Given the description of an element on the screen output the (x, y) to click on. 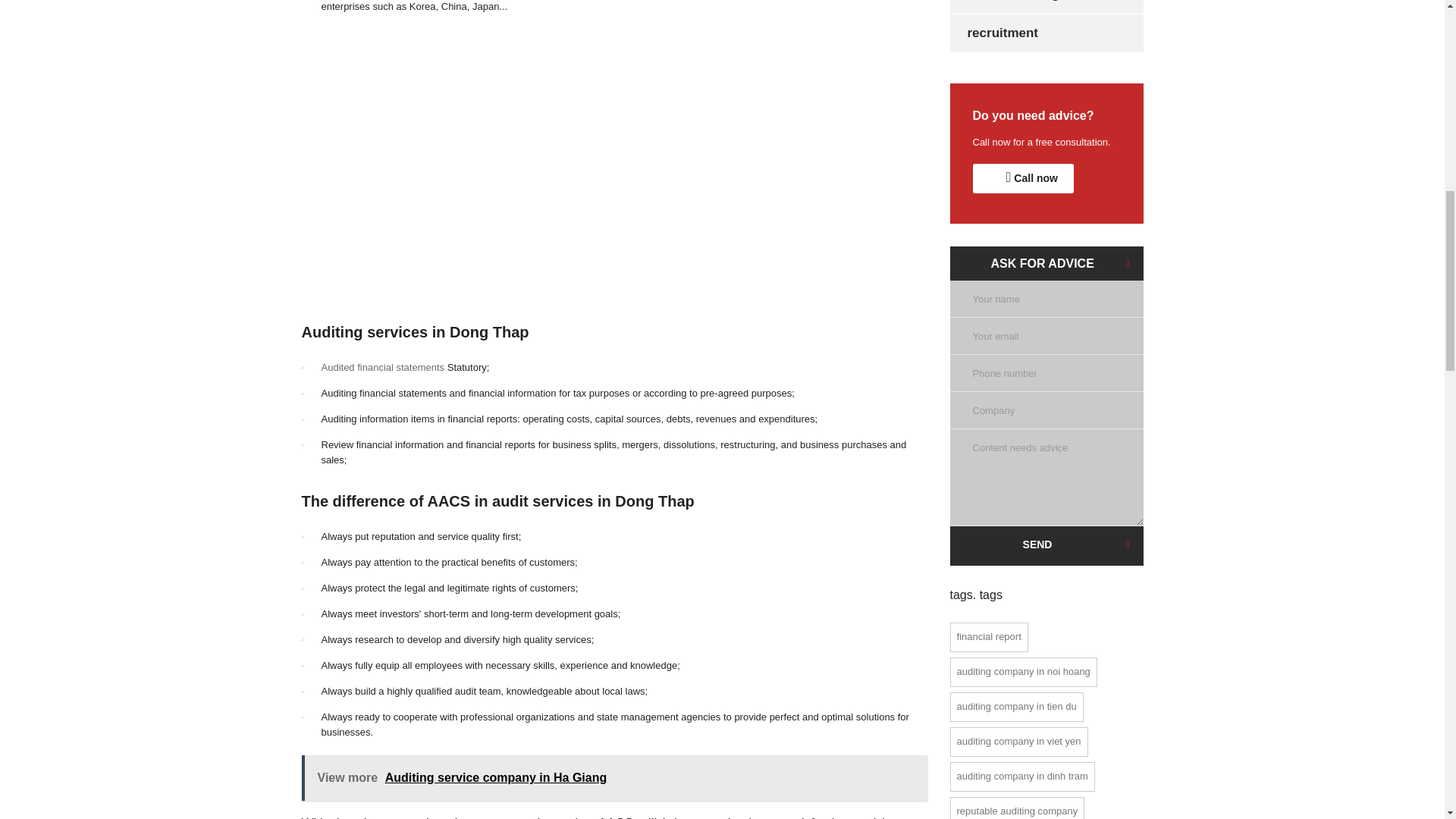
Auditing Service Company in Dong Thap 4 (623, 142)
